Given the description of an element on the screen output the (x, y) to click on. 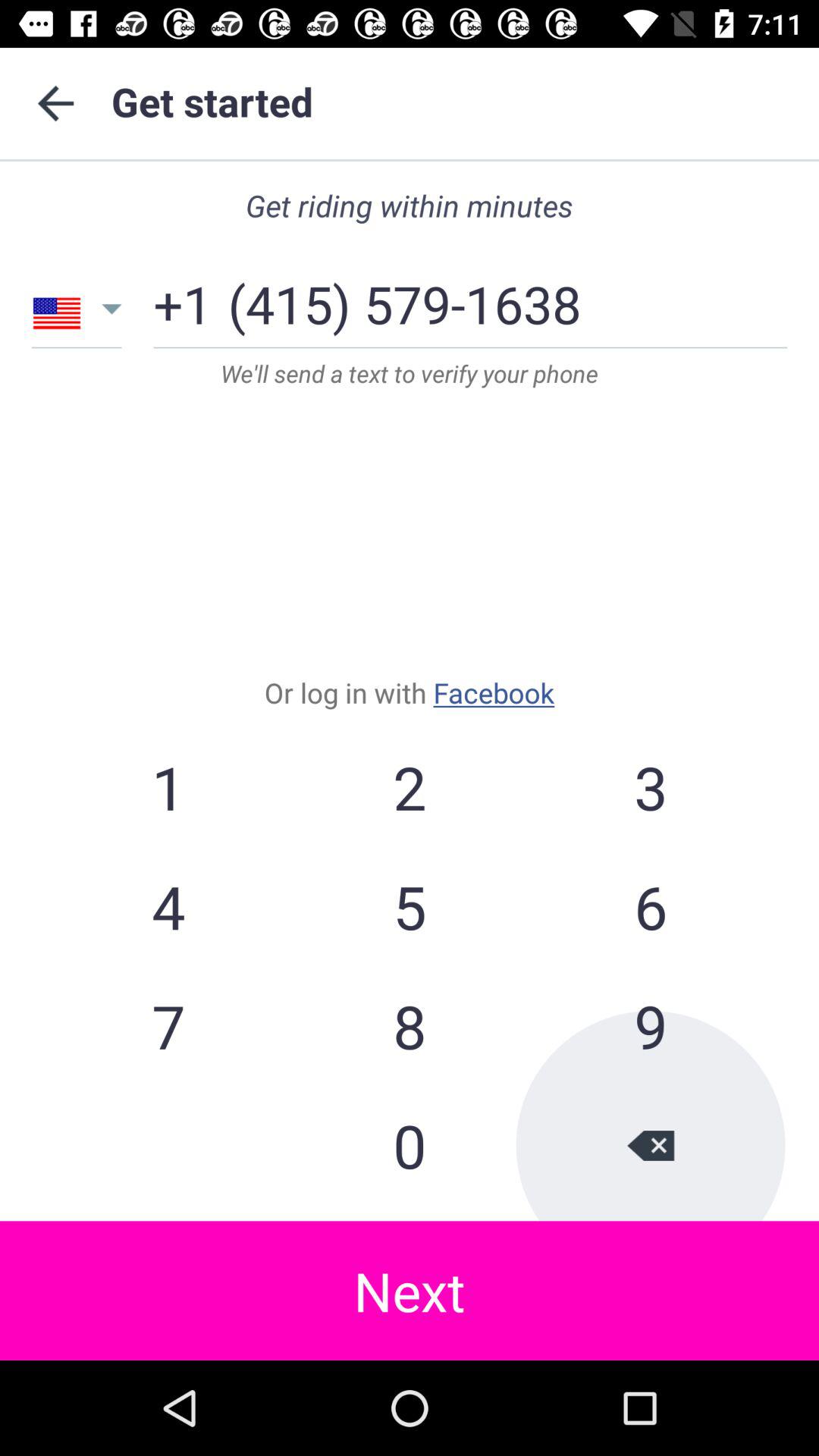
turn on item below the get riding within item (404, 298)
